Given the description of an element on the screen output the (x, y) to click on. 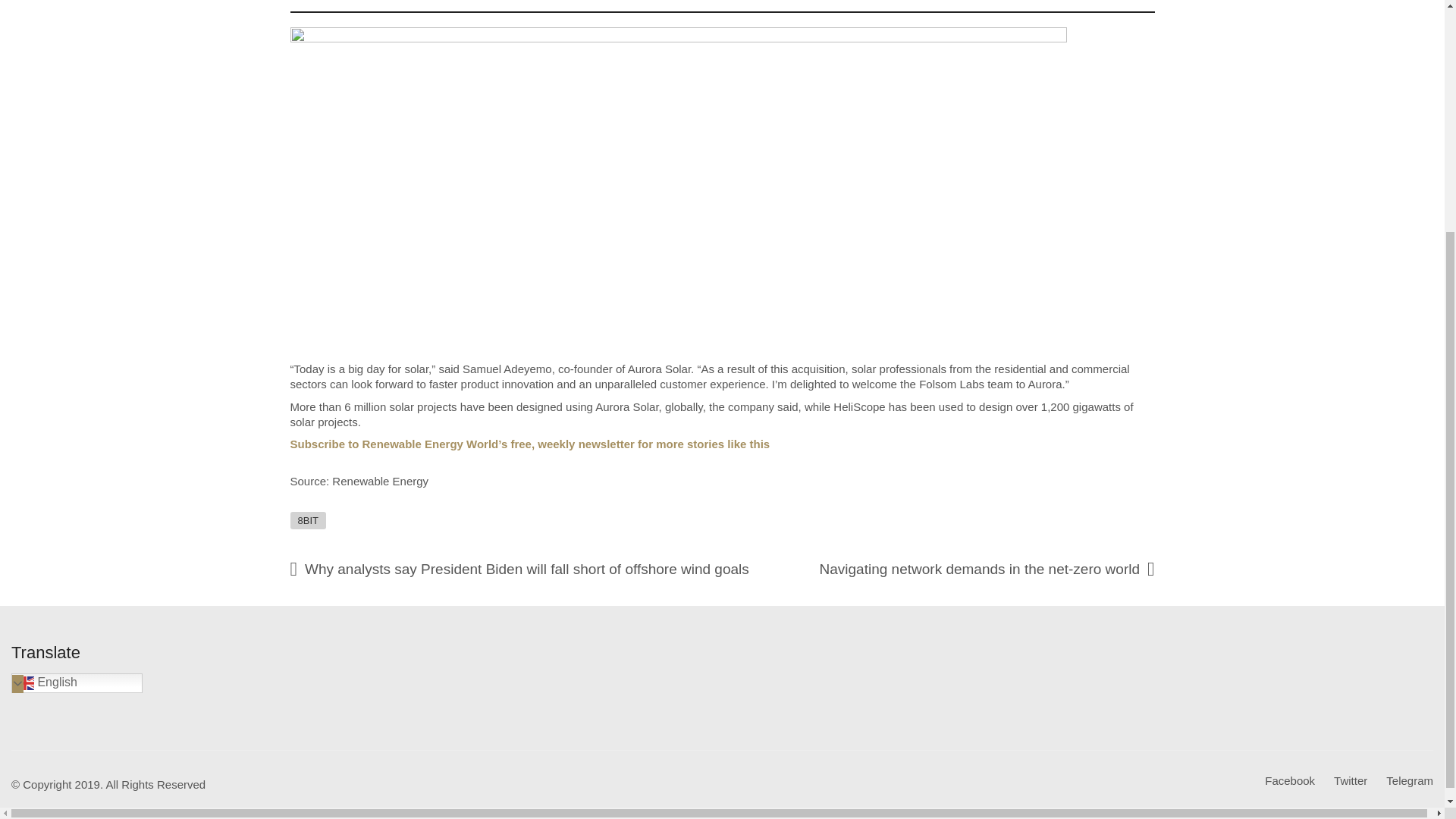
Twitter (1350, 780)
Telegram (1409, 780)
Facebook (1289, 780)
